Given the description of an element on the screen output the (x, y) to click on. 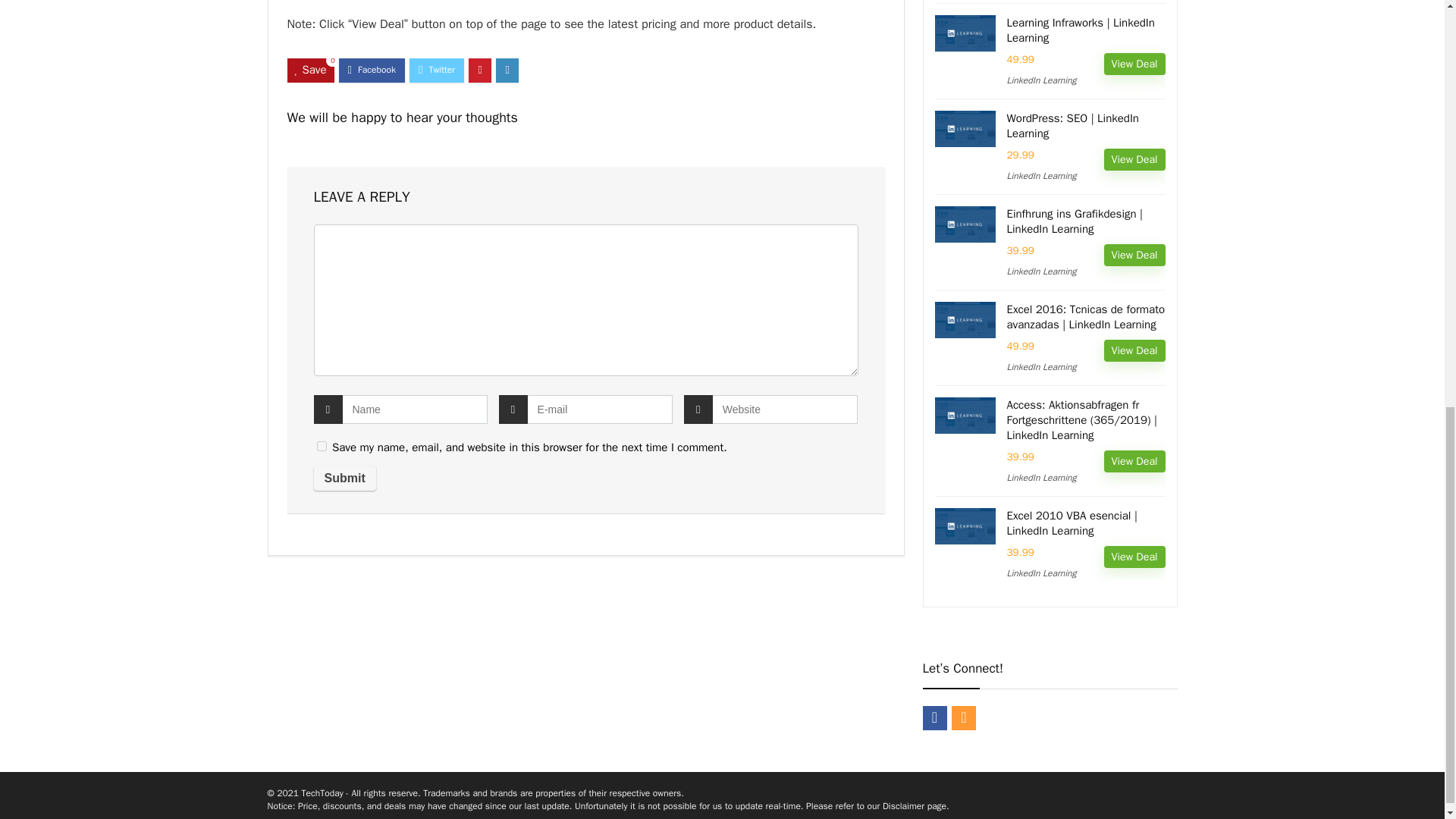
Submit (344, 478)
LinkedIn Learning (1042, 80)
Submit (344, 478)
yes (321, 446)
View Deal (1134, 64)
